Given the description of an element on the screen output the (x, y) to click on. 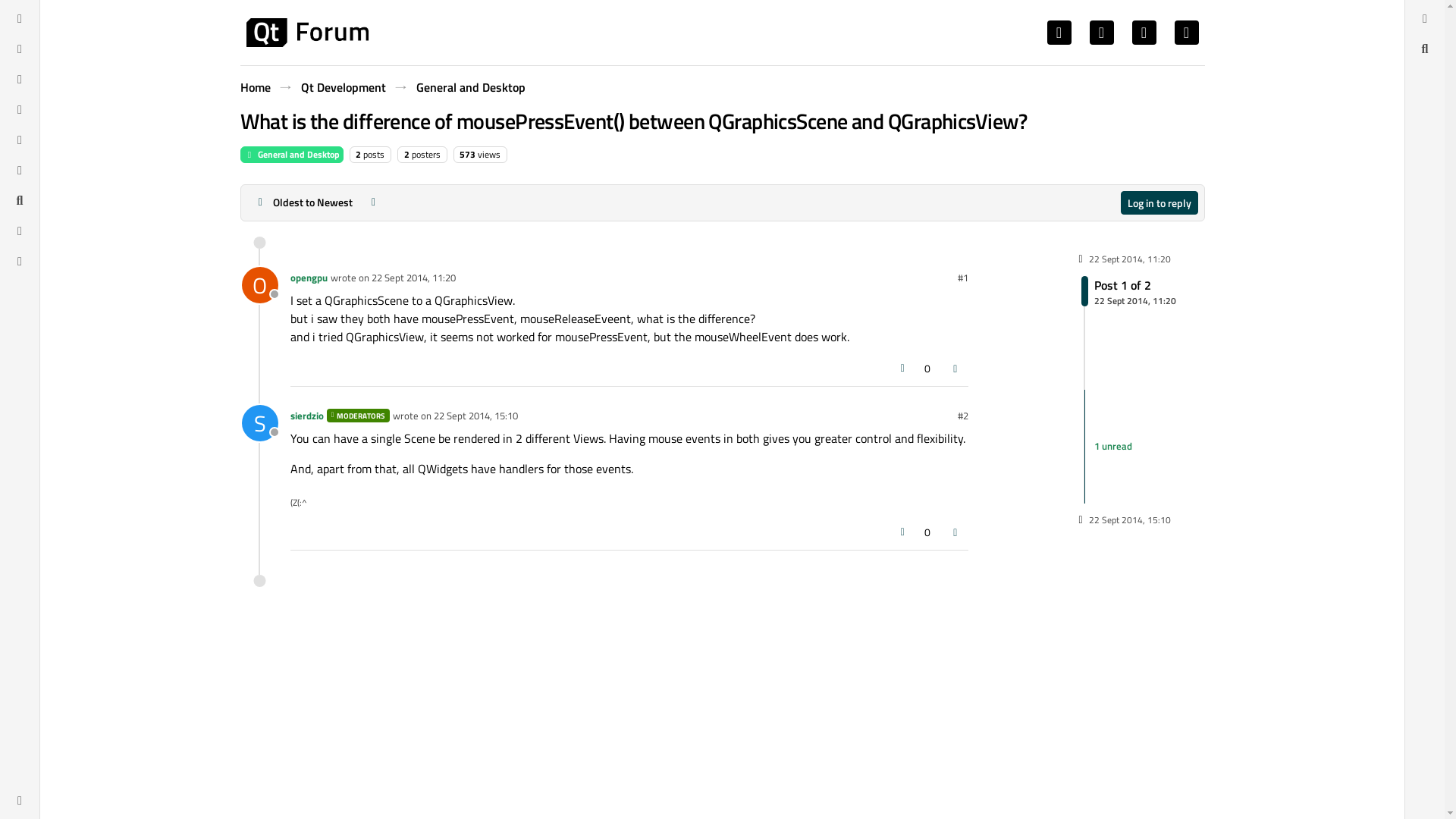
22 Sept 2014, 11:20 (413, 277)
General and Desktop (469, 86)
sierdzio (1128, 291)
Brand Logo (259, 422)
Log in to reply (307, 32)
573 (1159, 202)
Qt Development (468, 154)
opengpu (342, 86)
General and Desktop (259, 284)
Home (307, 277)
Upvote post (291, 154)
opengpu (254, 86)
Oldest to Newest (902, 368)
